Given the description of an element on the screen output the (x, y) to click on. 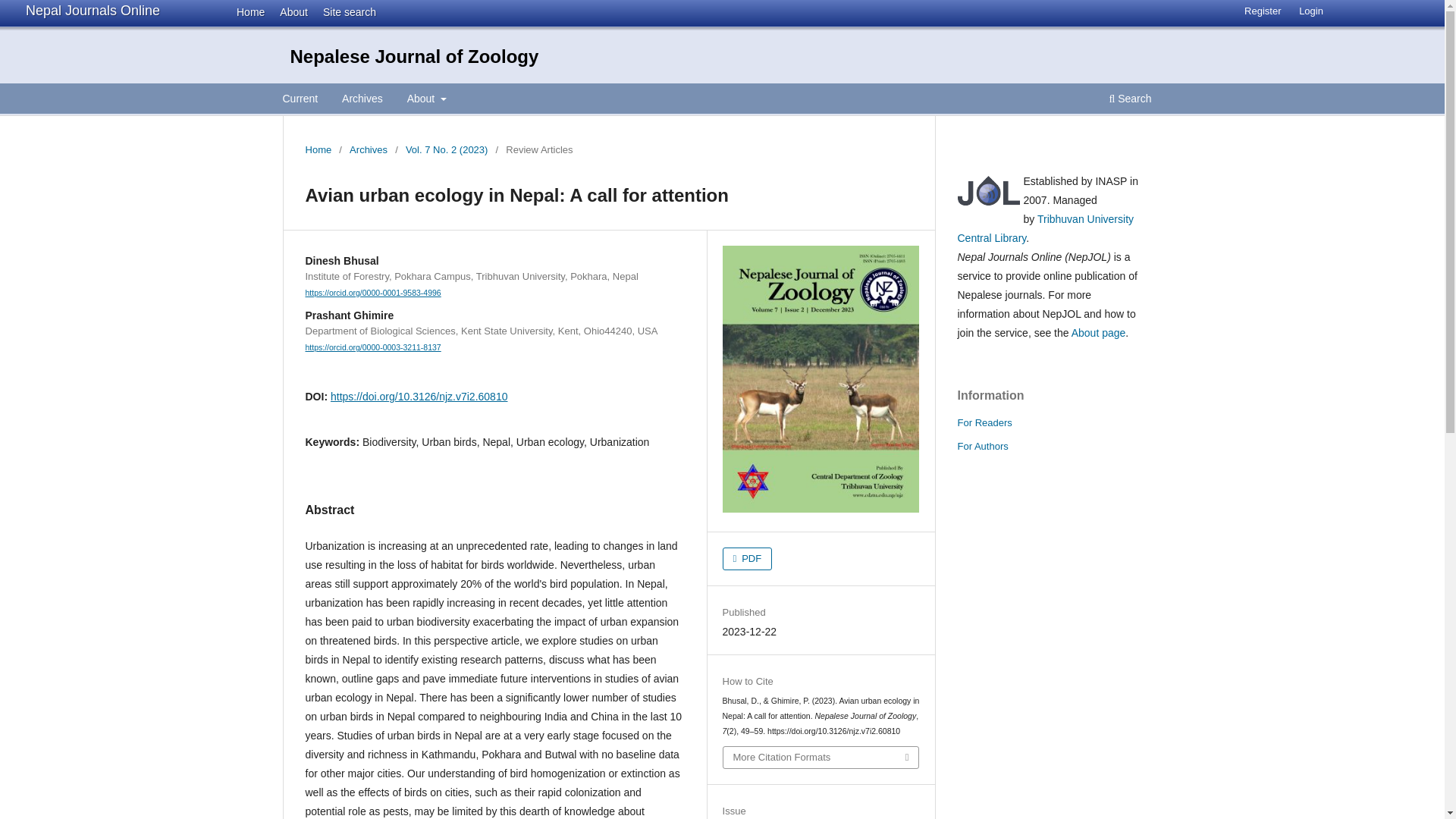
Site search (344, 11)
Home (245, 11)
About (289, 11)
Archives (362, 99)
Nepalese Journal of Zoology (413, 56)
Search (1129, 99)
Current (300, 99)
About (426, 99)
PDF (747, 558)
Home (317, 150)
